Given the description of an element on the screen output the (x, y) to click on. 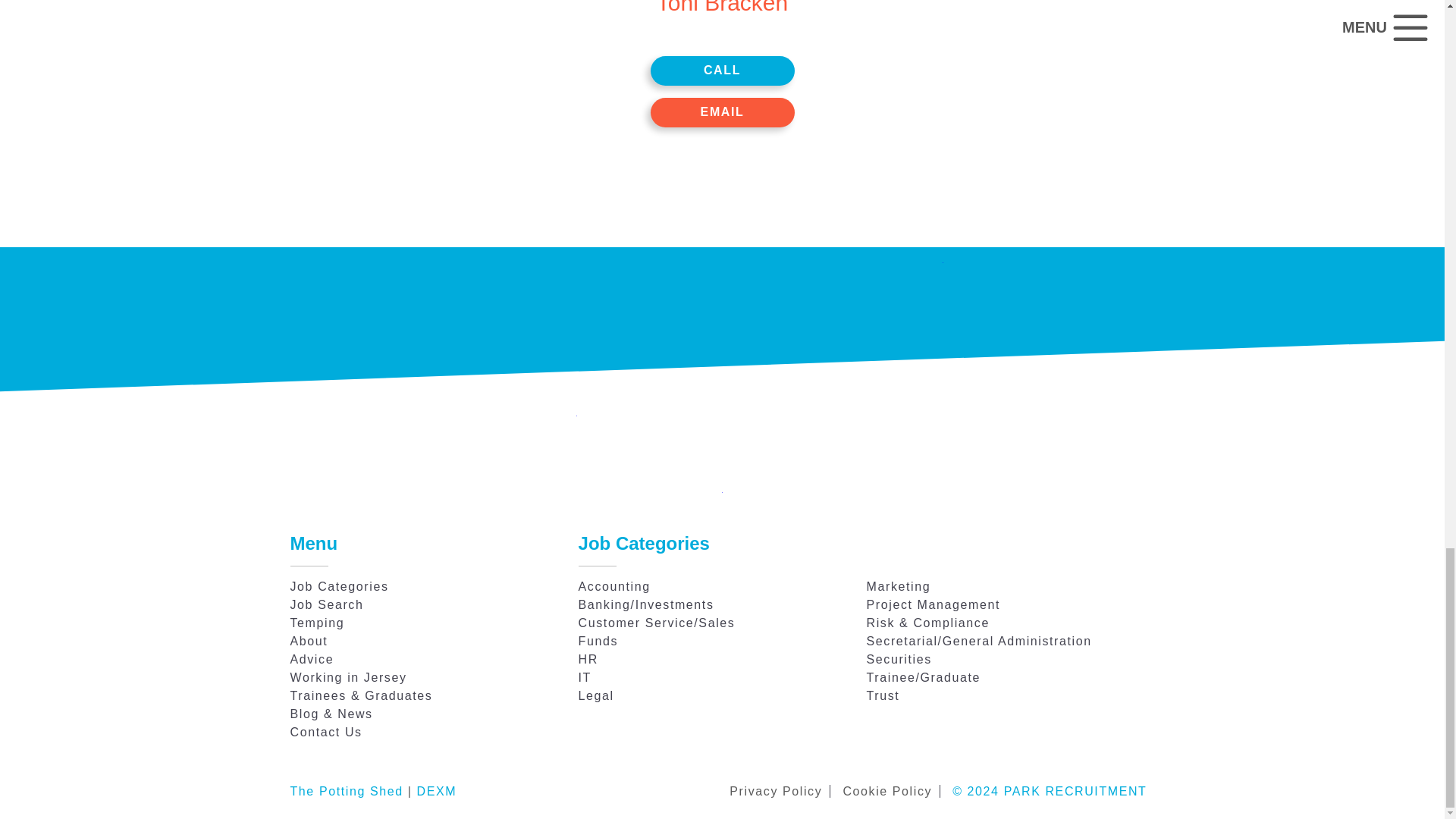
Temping (316, 622)
Contact Us (325, 731)
Advice (311, 658)
Accounting (614, 585)
Job Search (325, 604)
EMAIL (722, 112)
LinkedIn (673, 499)
Facebook (721, 499)
Instagram (769, 499)
About (308, 640)
